Given the description of an element on the screen output the (x, y) to click on. 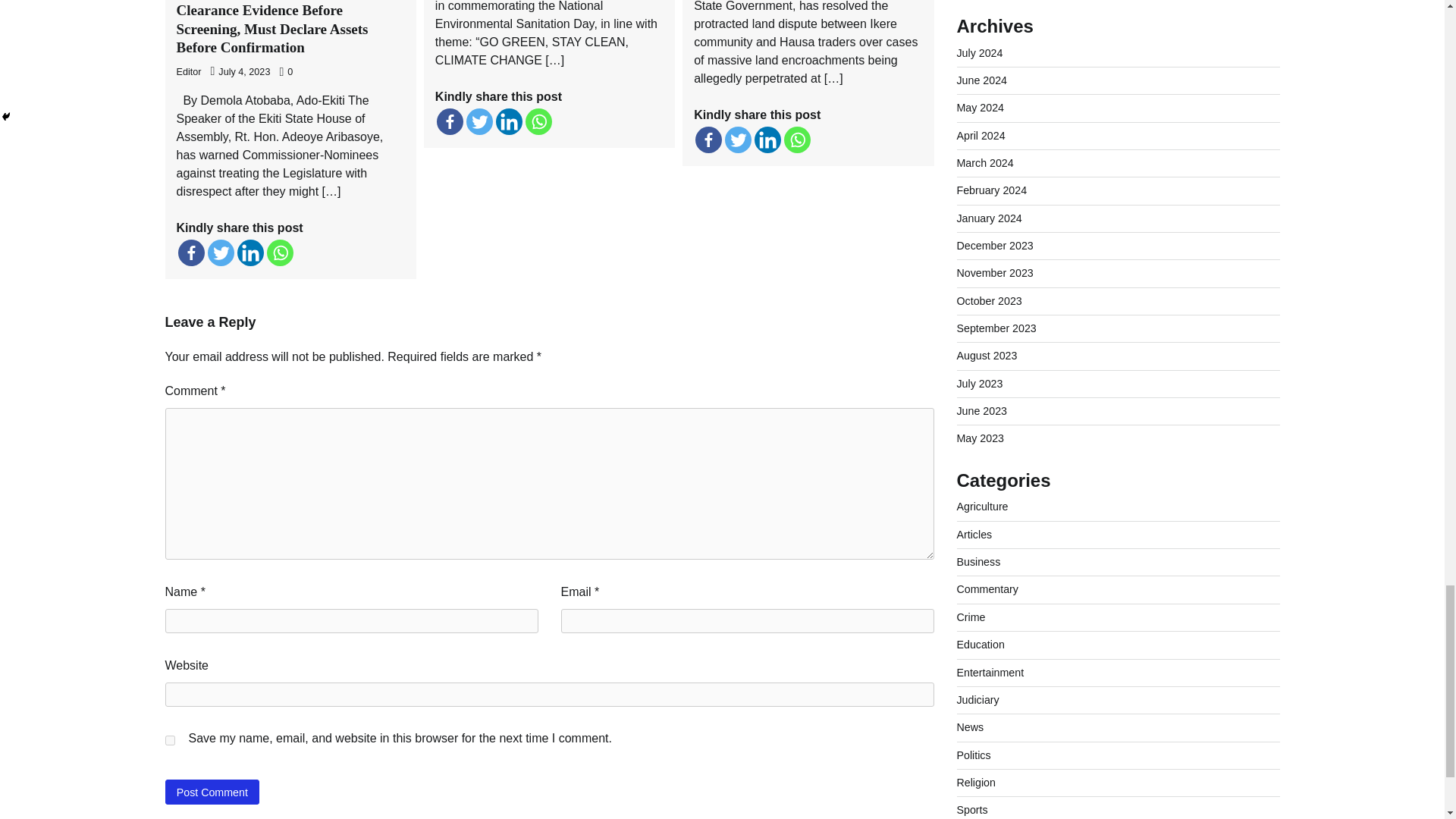
Post Comment (212, 791)
yes (169, 740)
Editor (188, 71)
